Given the description of an element on the screen output the (x, y) to click on. 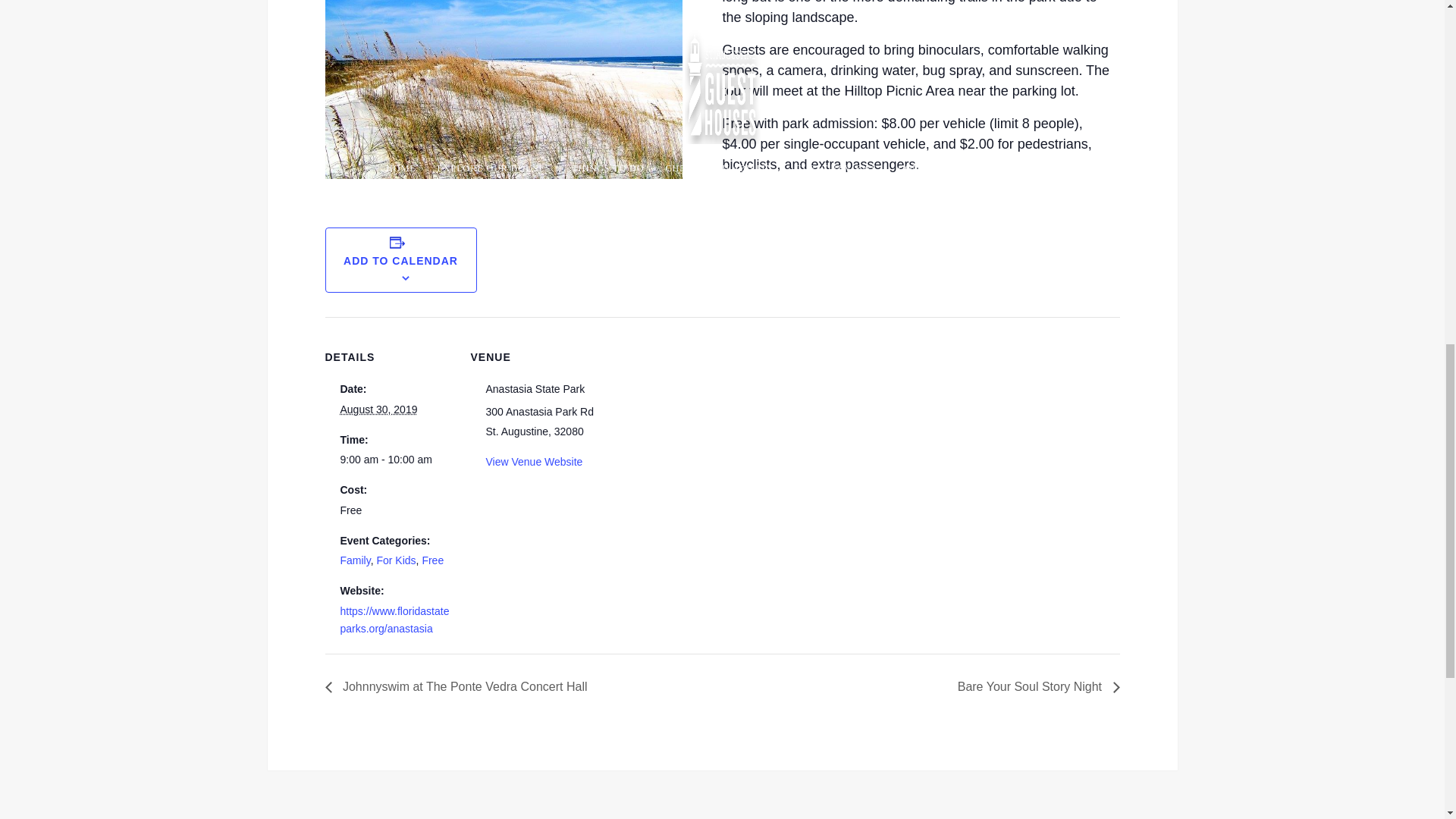
ADD TO CALENDAR (400, 260)
Bare Your Soul Story Night (1034, 686)
View Venue Website (533, 461)
Free (433, 560)
2019-08-30 (395, 460)
For Kids (394, 560)
Johnnyswim at The Ponte Vedra Concert Hall (459, 686)
2019-08-30 (377, 409)
Family (354, 560)
